Given the description of an element on the screen output the (x, y) to click on. 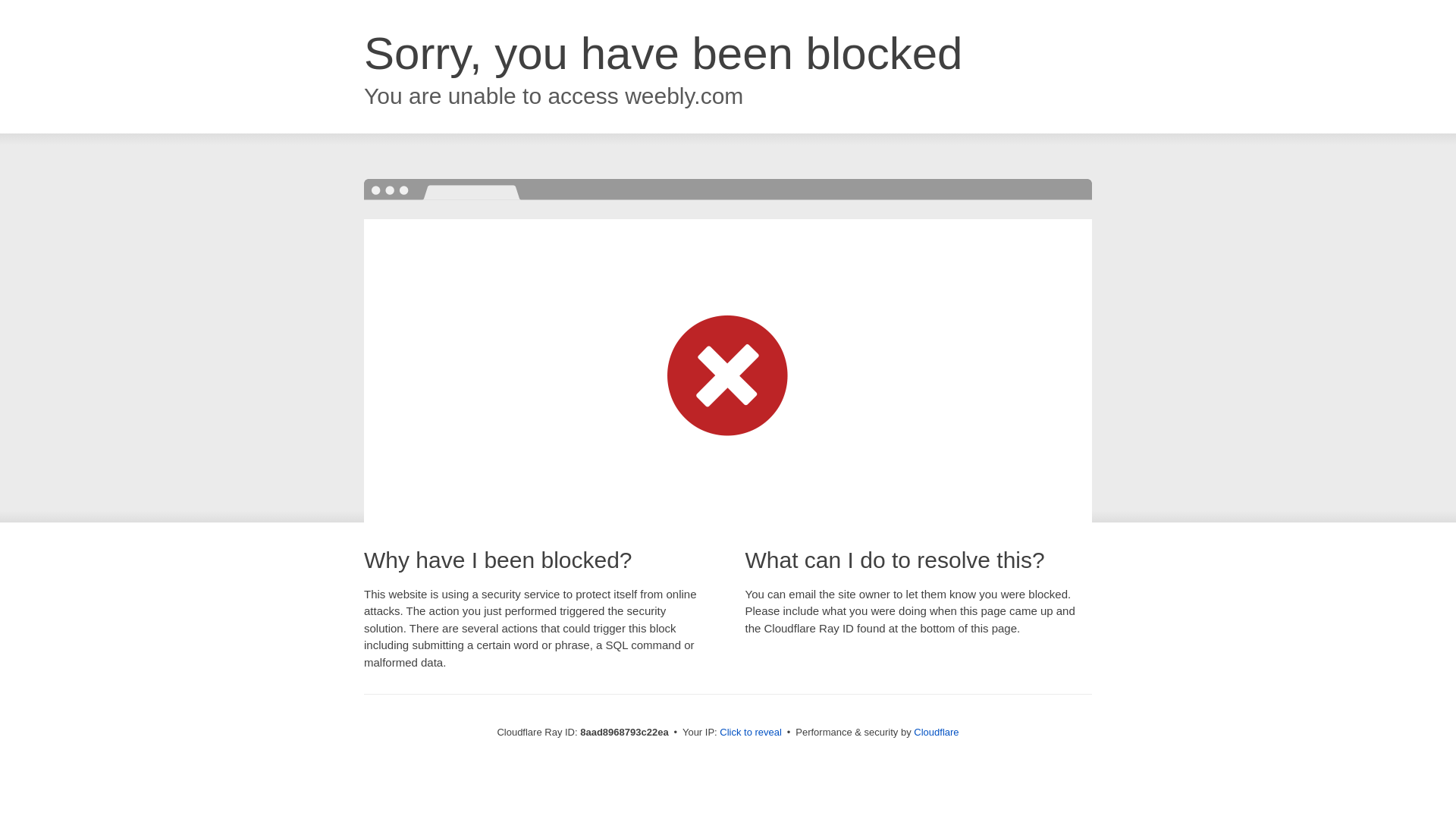
Click to reveal (750, 732)
Cloudflare (936, 731)
